Given the description of an element on the screen output the (x, y) to click on. 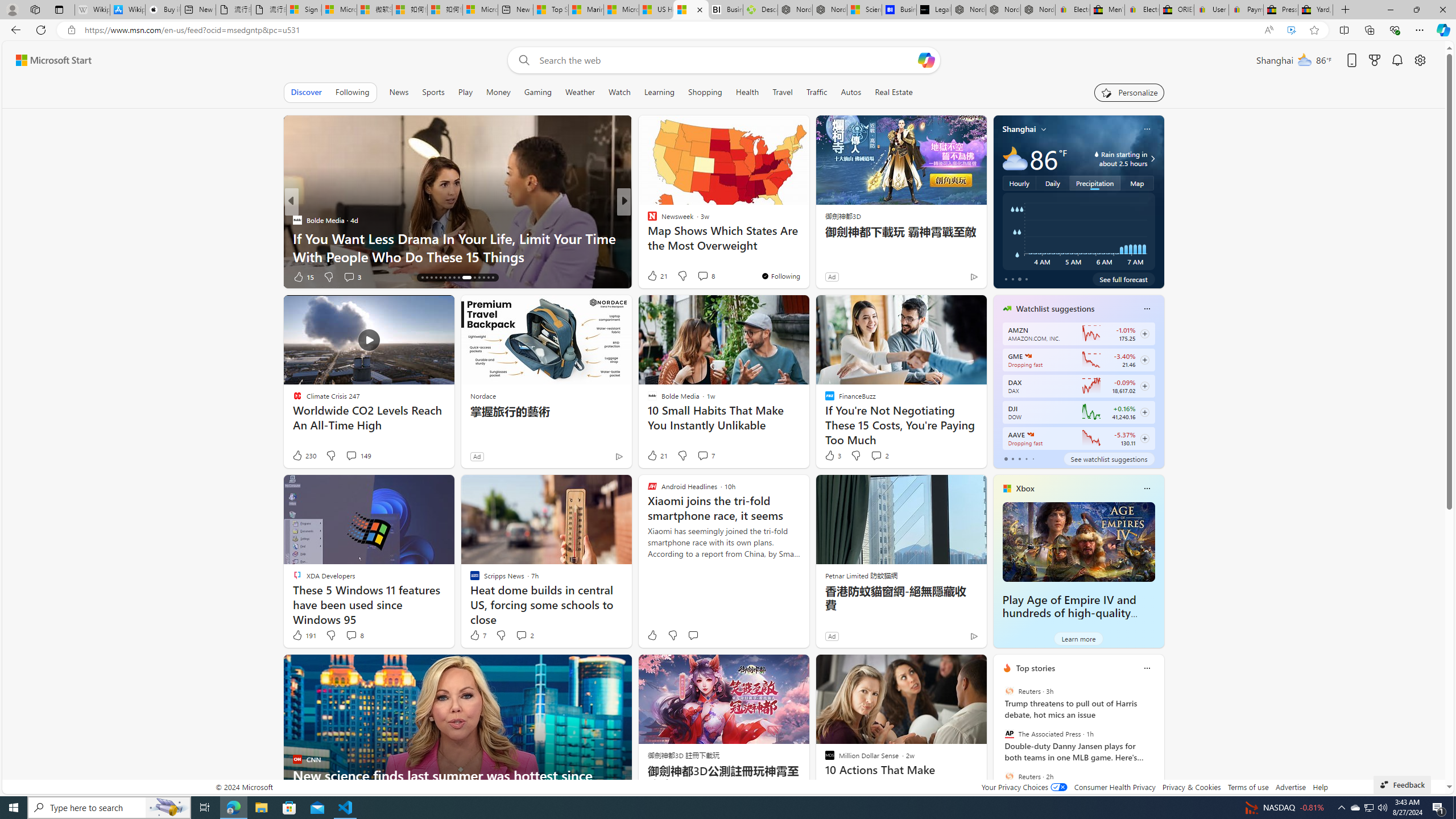
How To Fix Bad System Config Info Error In Windows (807, 256)
Bolde Media (296, 219)
US Heat Deaths Soared To Record High Last Year (656, 9)
Marine life - MSN (585, 9)
The Associated Press (1008, 733)
Descarga Driver Updater (760, 9)
water-drop-icon Rain starting in about 2.5 hours (1110, 158)
